Given the description of an element on the screen output the (x, y) to click on. 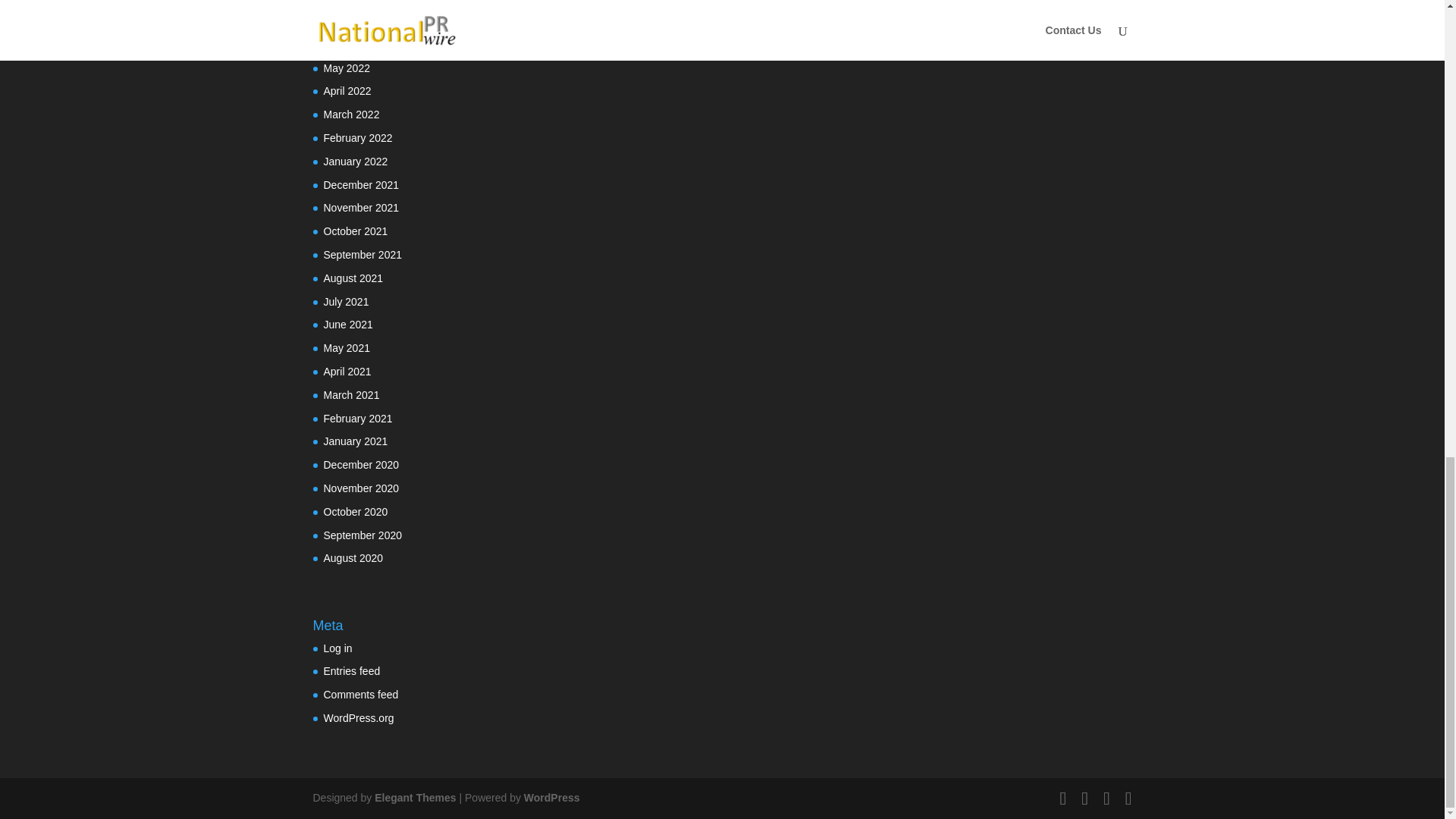
February 2022 (357, 137)
December 2021 (360, 184)
April 2021 (347, 371)
June 2022 (347, 44)
April 2022 (347, 91)
January 2022 (355, 161)
October 2021 (355, 231)
July 2021 (345, 301)
Premium WordPress Themes (414, 797)
August 2021 (352, 277)
